Given the description of an element on the screen output the (x, y) to click on. 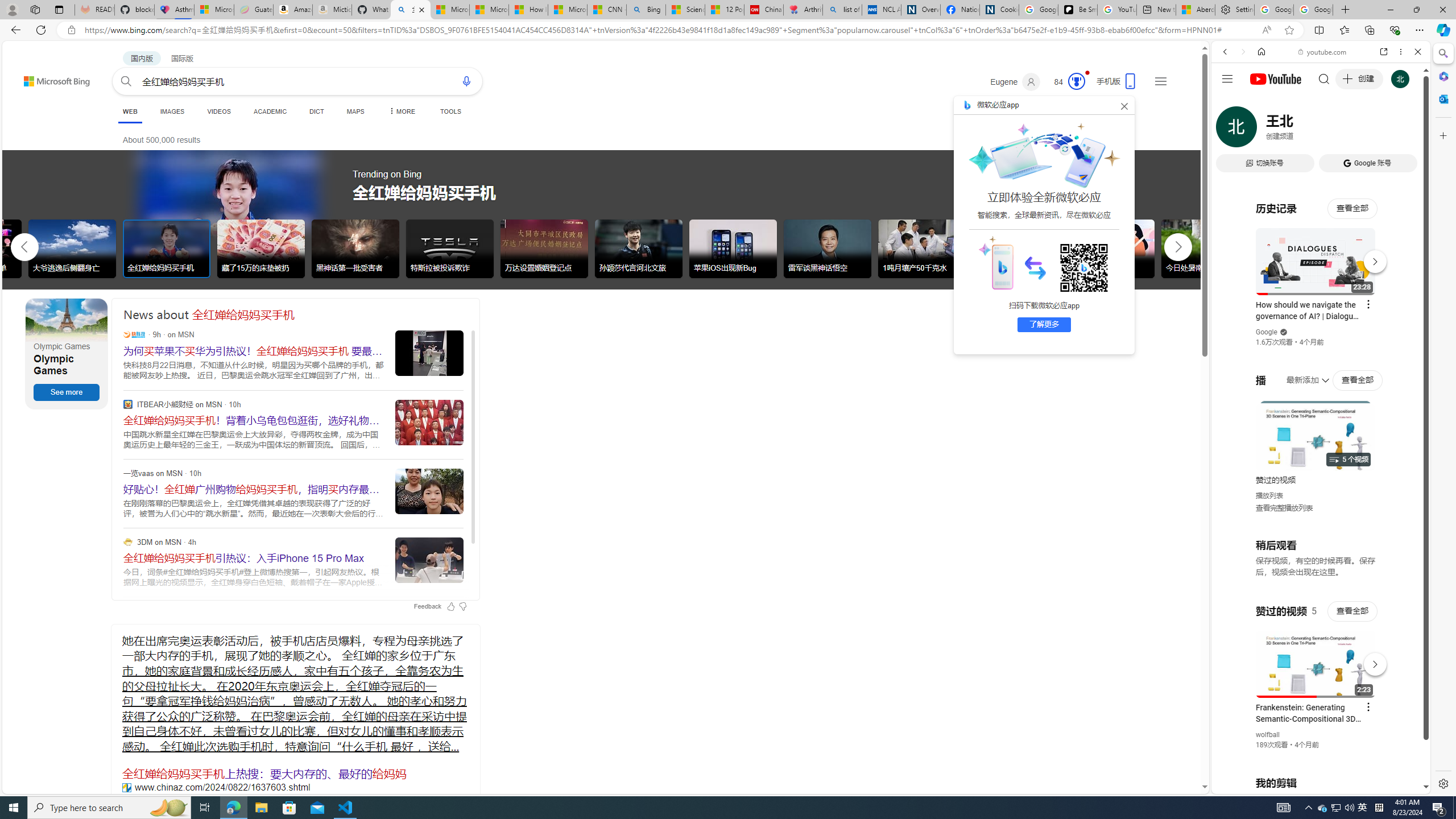
Search the web (1326, 78)
App bar (728, 29)
Search using voice (465, 80)
you (1315, 755)
View site information (70, 29)
SEARCH TOOLS (1350, 130)
Feedback Like (450, 605)
Search Filter, VIDEOS (1300, 129)
